Given the description of an element on the screen output the (x, y) to click on. 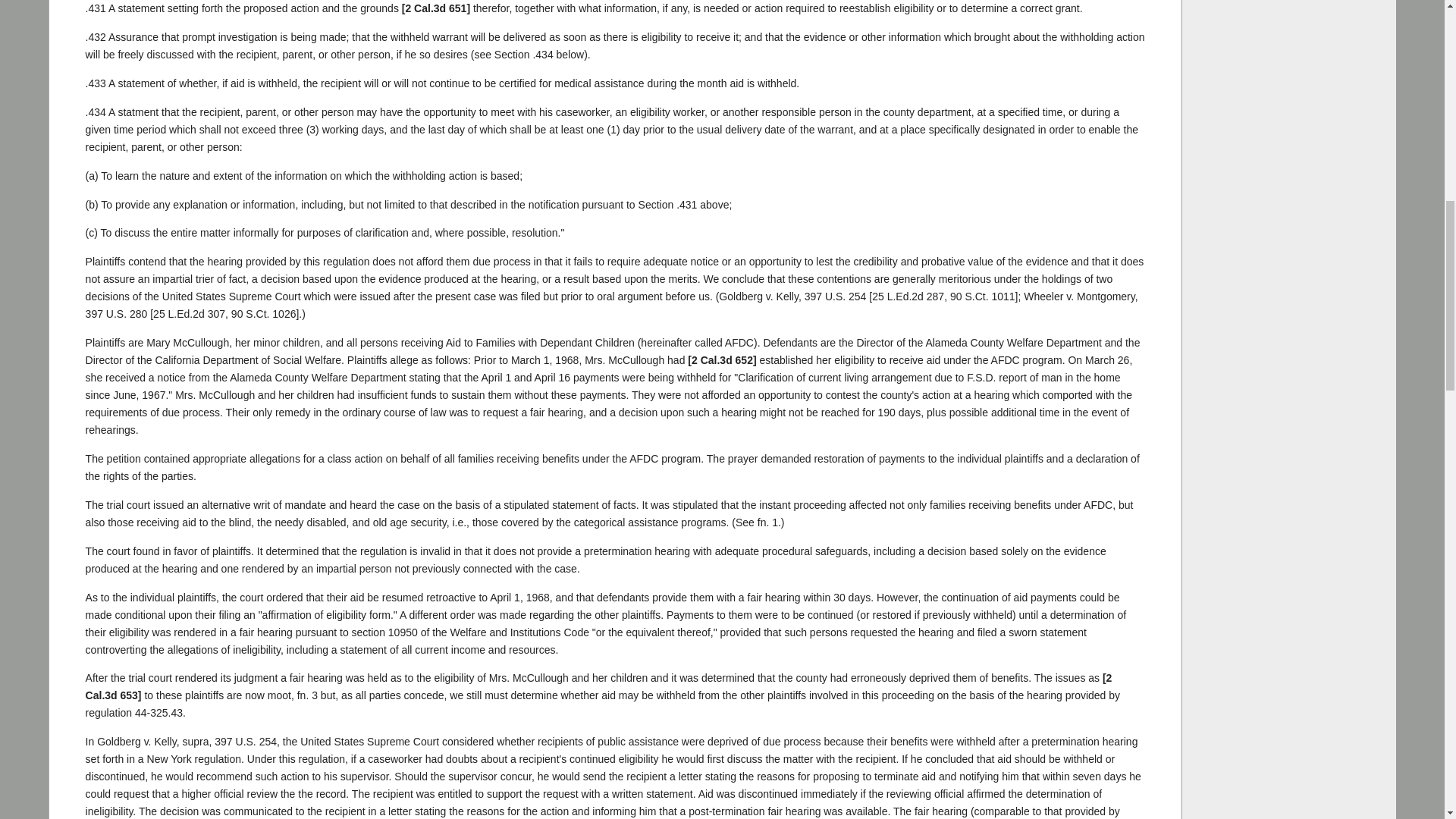
fn. 3 (307, 695)
397 U.S. 280 (116, 313)
397 U.S. 254 (835, 296)
397 U.S. 254 (245, 741)
